Given the description of an element on the screen output the (x, y) to click on. 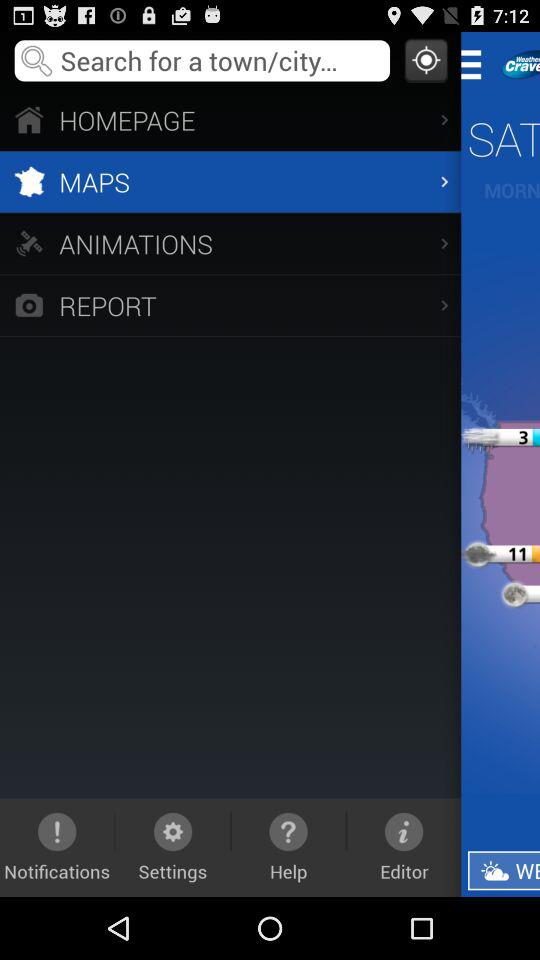
information about the app (517, 64)
